Given the description of an element on the screen output the (x, y) to click on. 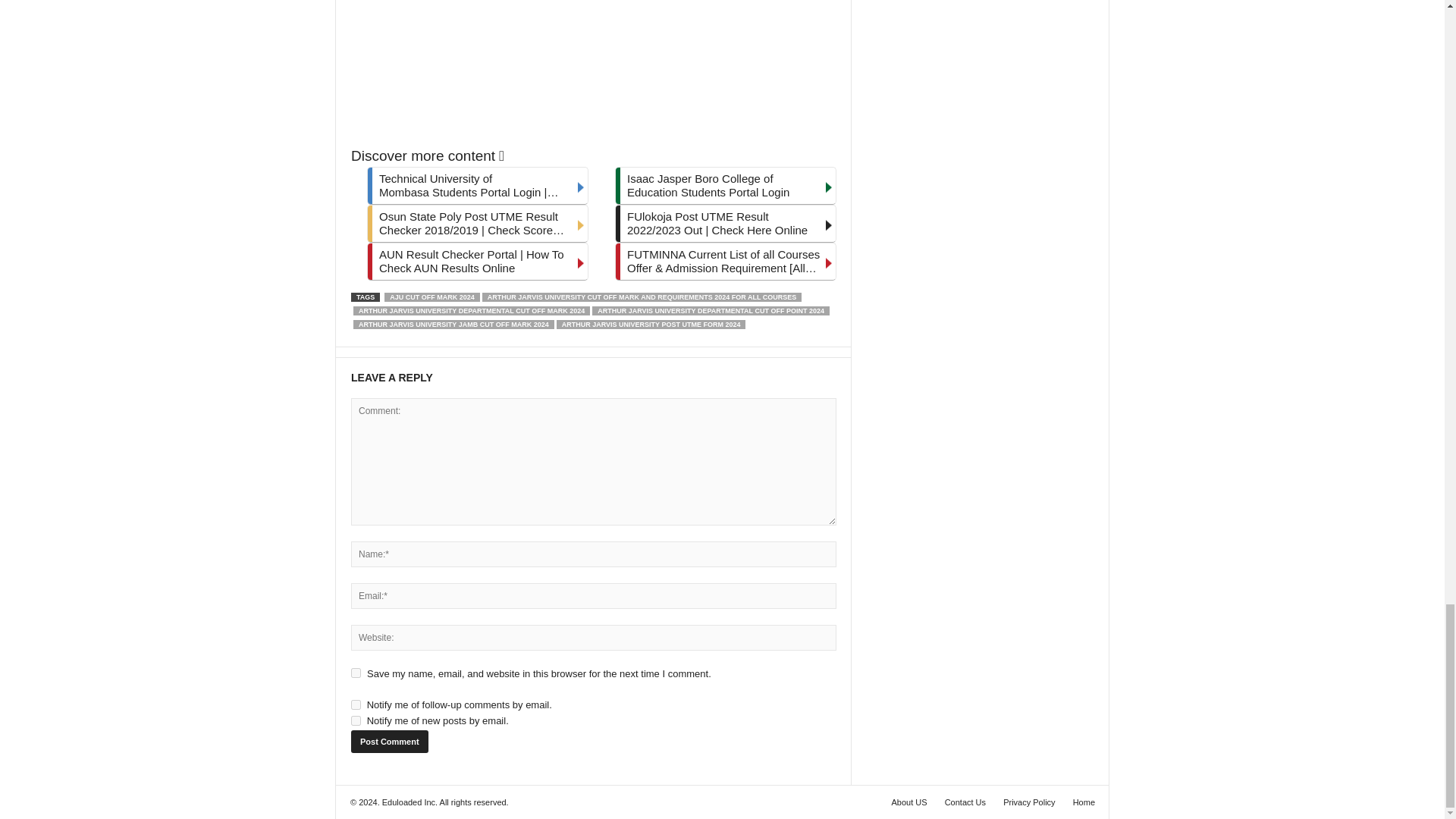
About US (908, 801)
Advertisement (592, 69)
Post Comment (389, 741)
subscribe (355, 720)
ARTHUR JARVIS UNIVERSITY DEPARTMENTAL CUT OFF POINT 2024 (710, 310)
Privacy Policy (1028, 801)
Home (1079, 801)
Contact Us (964, 801)
ARTHUR JARVIS UNIVERSITY DEPARTMENTAL CUT OFF MARK 2024 (471, 310)
